Given the description of an element on the screen output the (x, y) to click on. 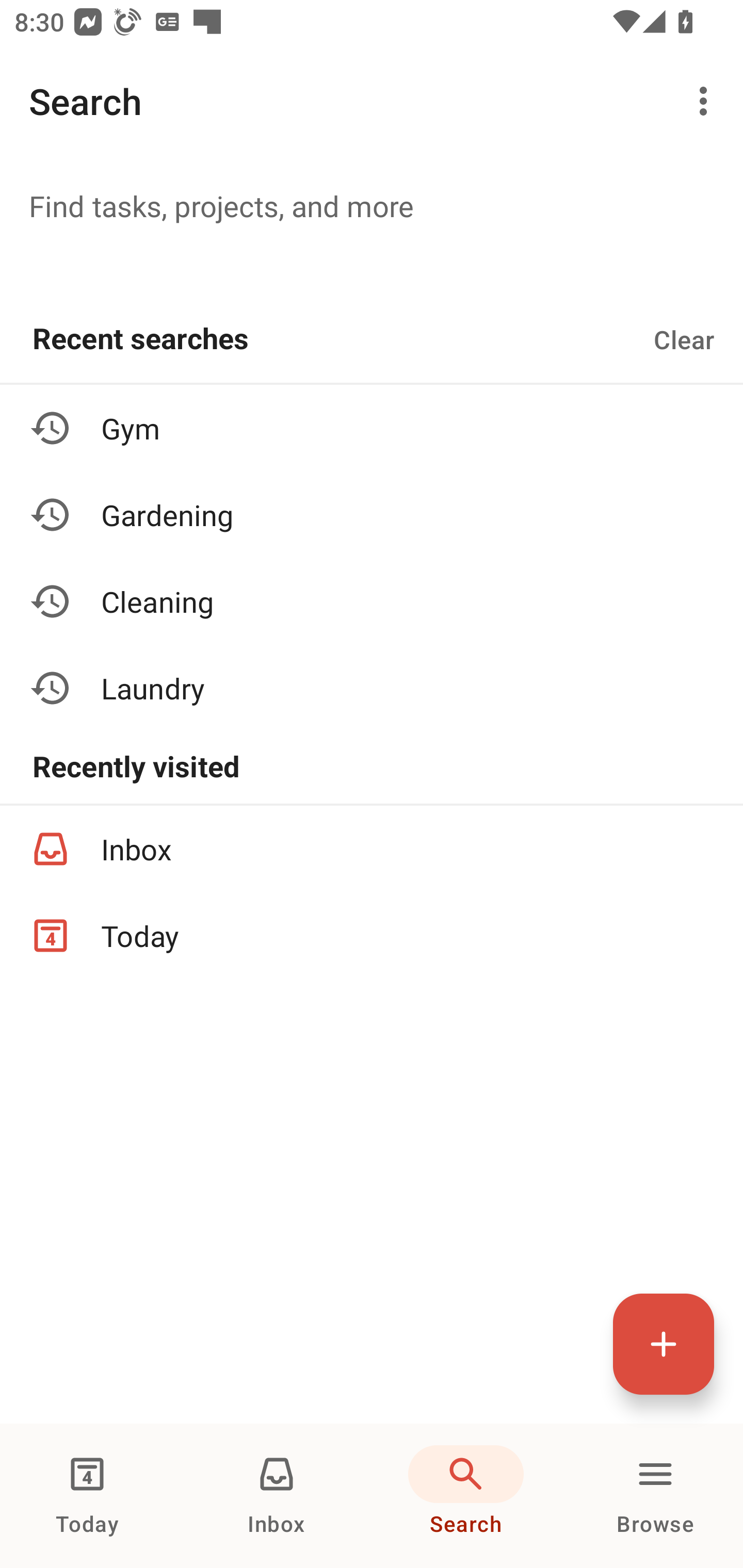
Search More options (371, 100)
More options (706, 101)
Find tasks, projects, and more (371, 205)
Clear (683, 339)
Gym (371, 427)
Gardening (371, 514)
Cleaning (371, 601)
Laundry (371, 687)
Inbox (371, 848)
Today (371, 935)
Quick add (663, 1343)
Today (87, 1495)
Inbox (276, 1495)
Browse (655, 1495)
